Given the description of an element on the screen output the (x, y) to click on. 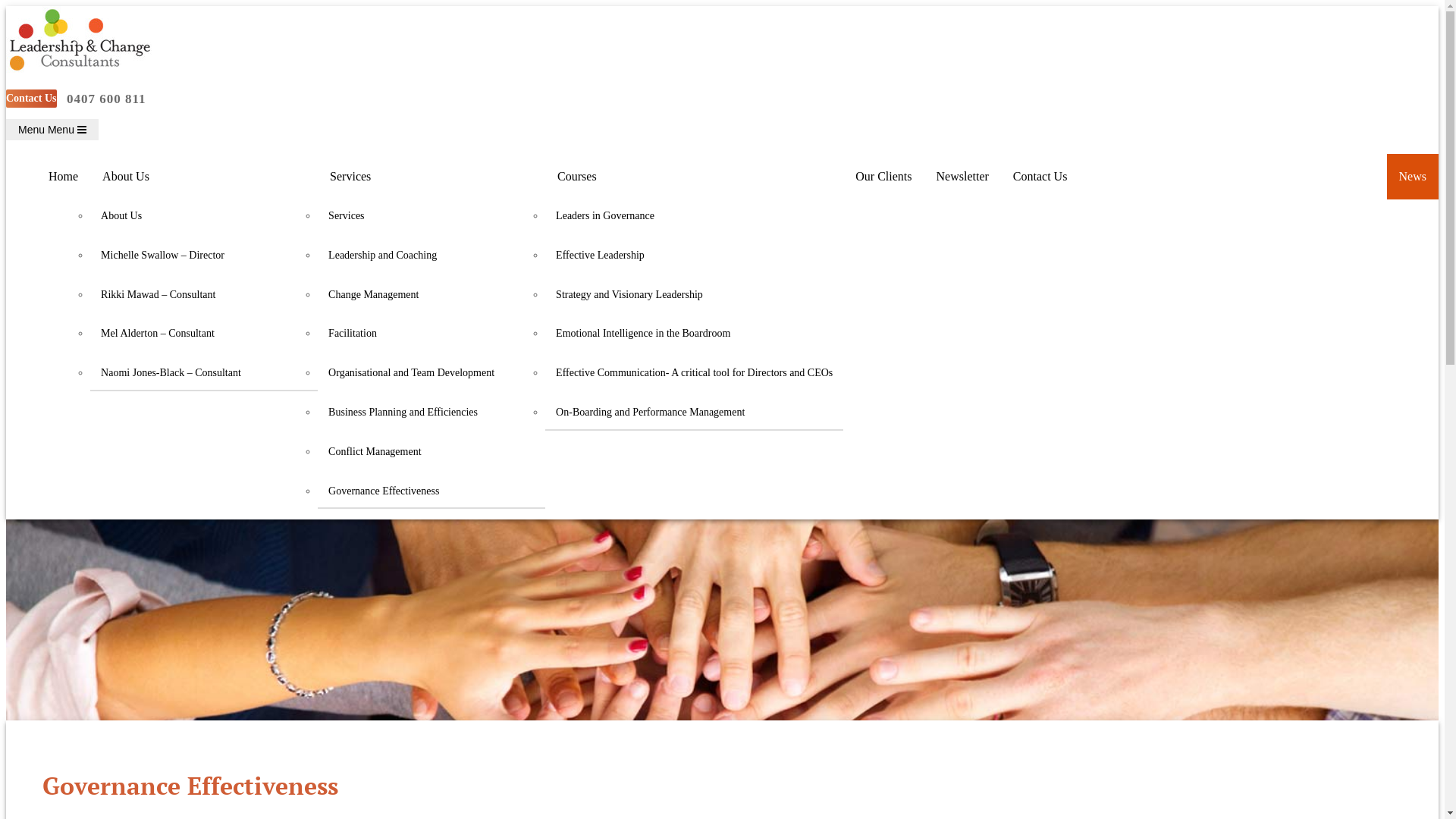
Contact Us Element type: text (31, 98)
Leadership and Coaching Element type: text (431, 255)
Services Element type: text (431, 176)
Our Clients Element type: text (883, 176)
Change Management Element type: text (431, 294)
Governance Effectiveness Element type: text (431, 491)
Home Element type: text (63, 176)
On-Boarding and Performance Management Element type: text (694, 412)
About Us Element type: text (203, 176)
About Us Element type: text (203, 215)
Contact Us Element type: text (1040, 176)
Emotional Intelligence in the Boardroom Element type: text (694, 333)
Facilitation Element type: text (431, 333)
Leaders in Governance Element type: text (694, 215)
Business Planning and Efficiencies Element type: text (431, 412)
Organisational and Team Development Element type: text (431, 372)
Menu Menu Element type: text (52, 129)
Strategy and Visionary Leadership Element type: text (694, 294)
Conflict Management Element type: text (431, 451)
Services Element type: text (431, 215)
News Element type: text (1412, 176)
Effective Leadership Element type: text (694, 255)
Courses Element type: text (694, 176)
Newsletter Element type: text (962, 176)
